Given the description of an element on the screen output the (x, y) to click on. 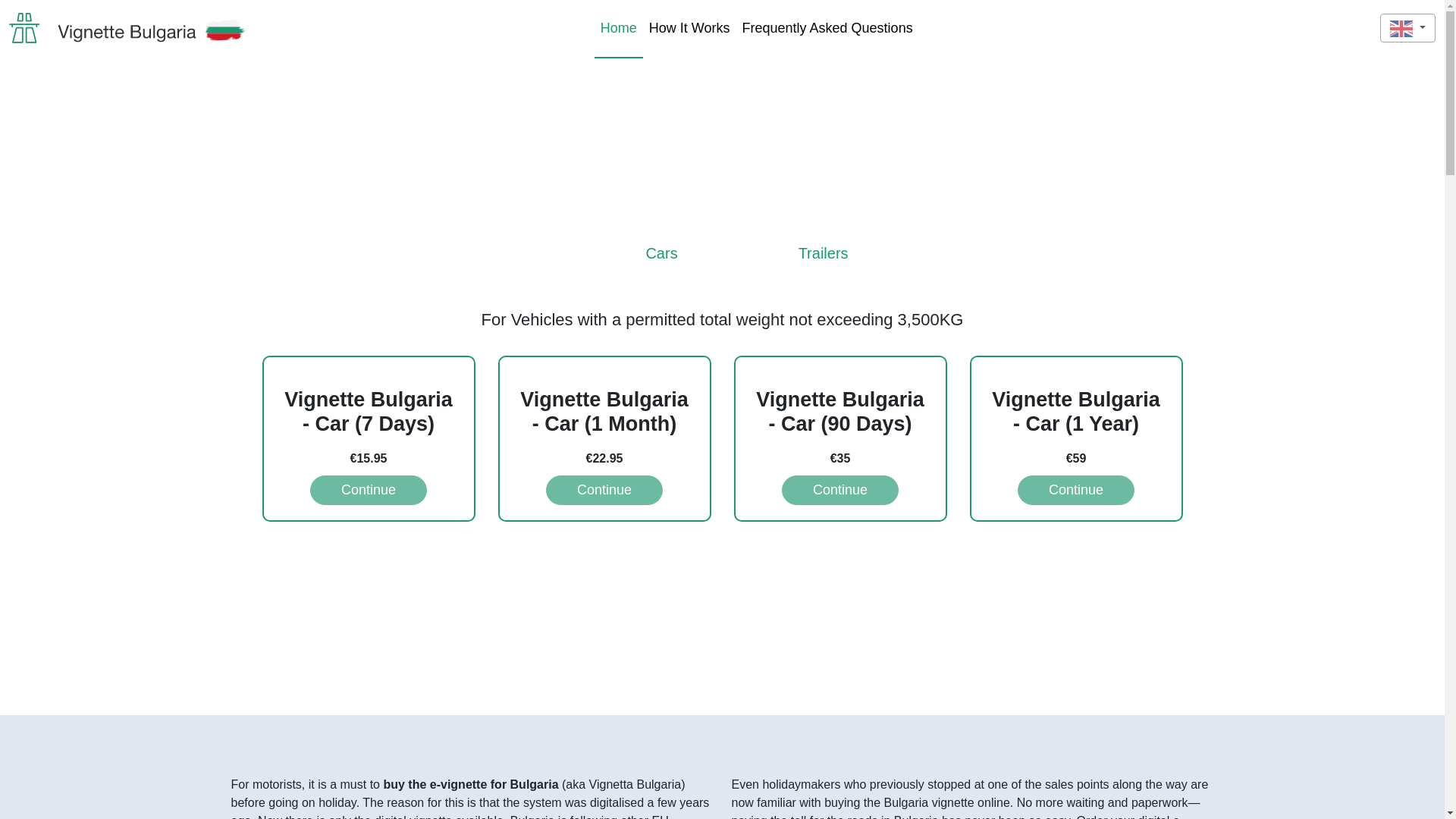
Cars (631, 263)
How It Works (689, 28)
Continue (604, 490)
Trailers (794, 263)
Frequently Asked Questions (827, 28)
Continue (1075, 490)
Continue (368, 490)
Continue (839, 490)
Home (618, 28)
